Given the description of an element on the screen output the (x, y) to click on. 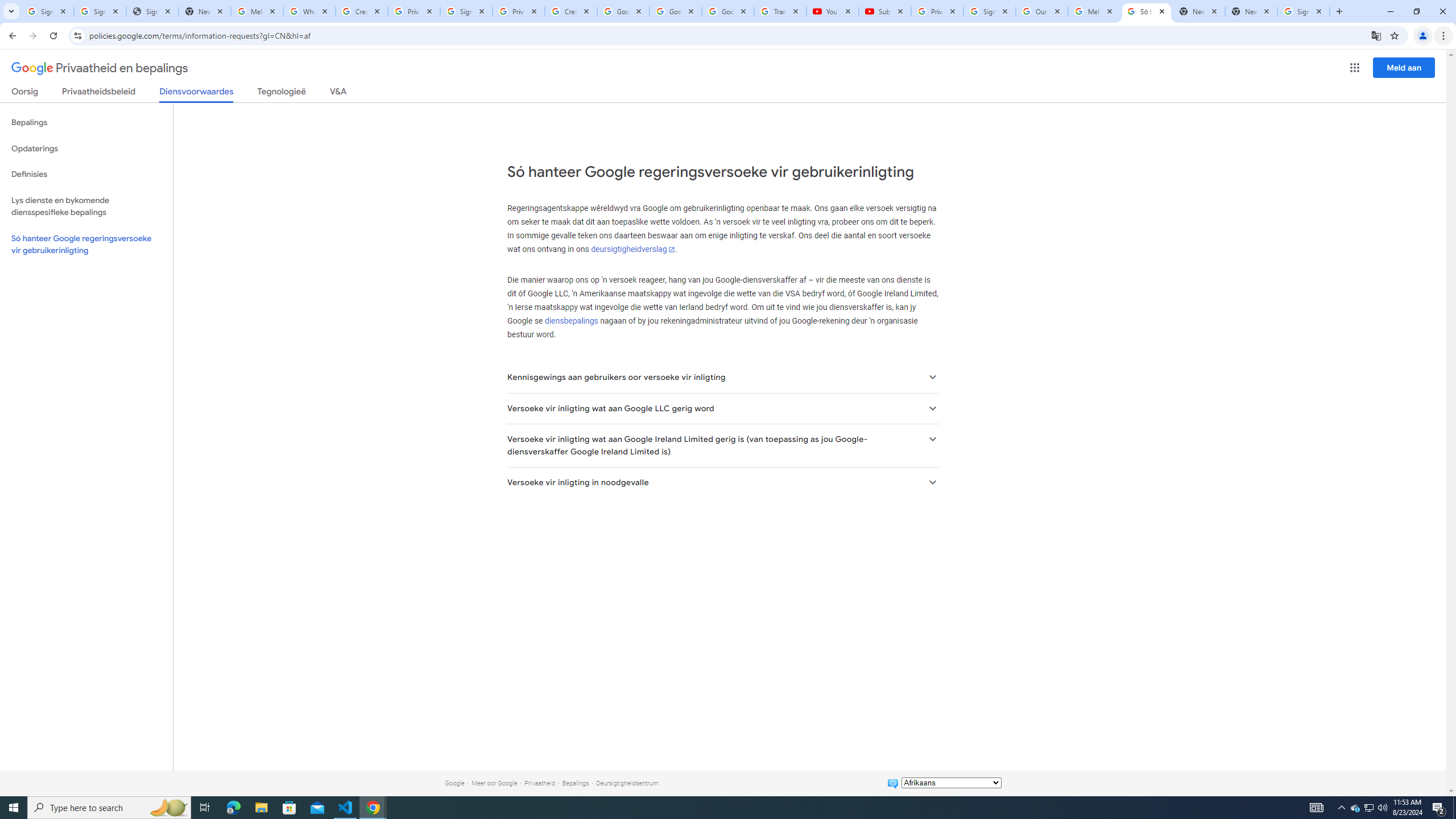
Who is my administrator? - Google Account Help (309, 11)
Subscriptions - YouTube (884, 11)
Lys dienste en bykomende diensspesifieke bepalings (86, 206)
Translate this page (1376, 35)
Sign in - Google Accounts (1303, 11)
Versoeke vir inligting wat aan Google LLC gerig word (722, 408)
Create your Google Account (361, 11)
Sign In - USA TODAY (151, 11)
deursigtigheidverslag (633, 249)
